Given the description of an element on the screen output the (x, y) to click on. 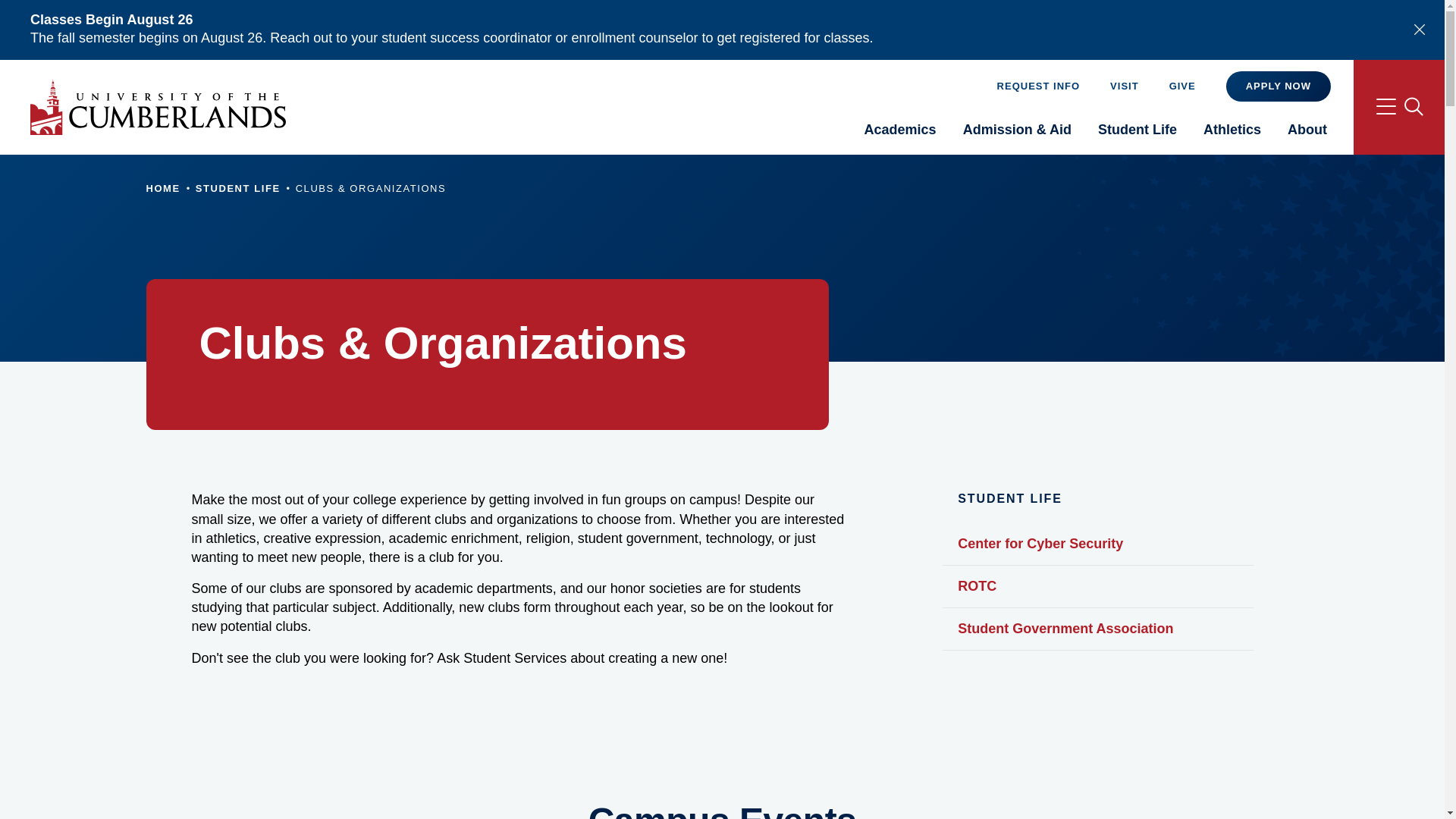
REQUEST INFO (1038, 85)
Academics (900, 133)
VISIT (1123, 85)
APPLY NOW (1277, 86)
GIVE (1182, 85)
